Given the description of an element on the screen output the (x, y) to click on. 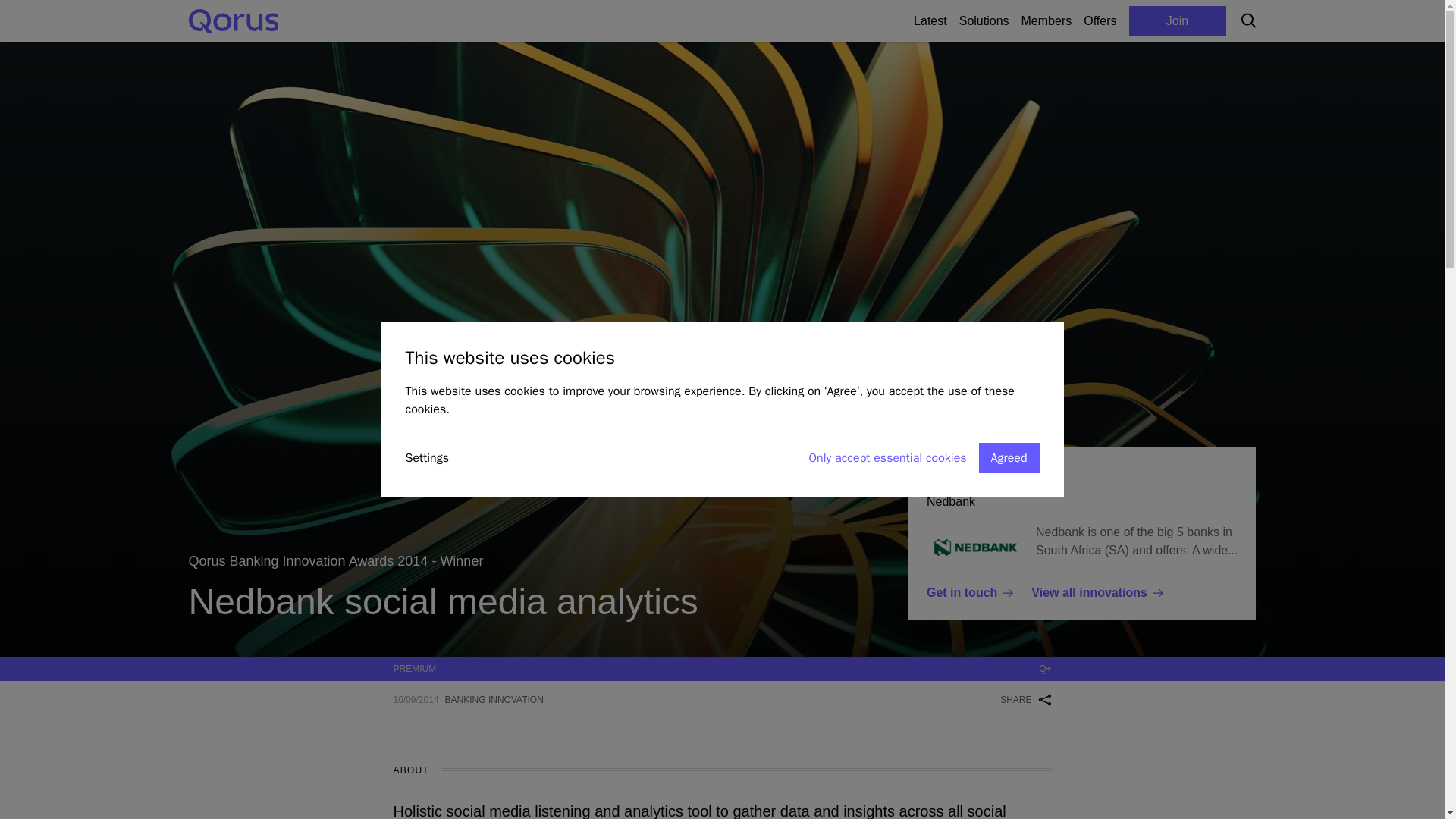
Members (1046, 21)
Join (1176, 21)
Solutions (984, 21)
Get in touch (969, 592)
Qorus Banking Innovation Awards 2014 - Winner (335, 560)
View all innovations (1096, 592)
SHARE (1069, 21)
